Given the description of an element on the screen output the (x, y) to click on. 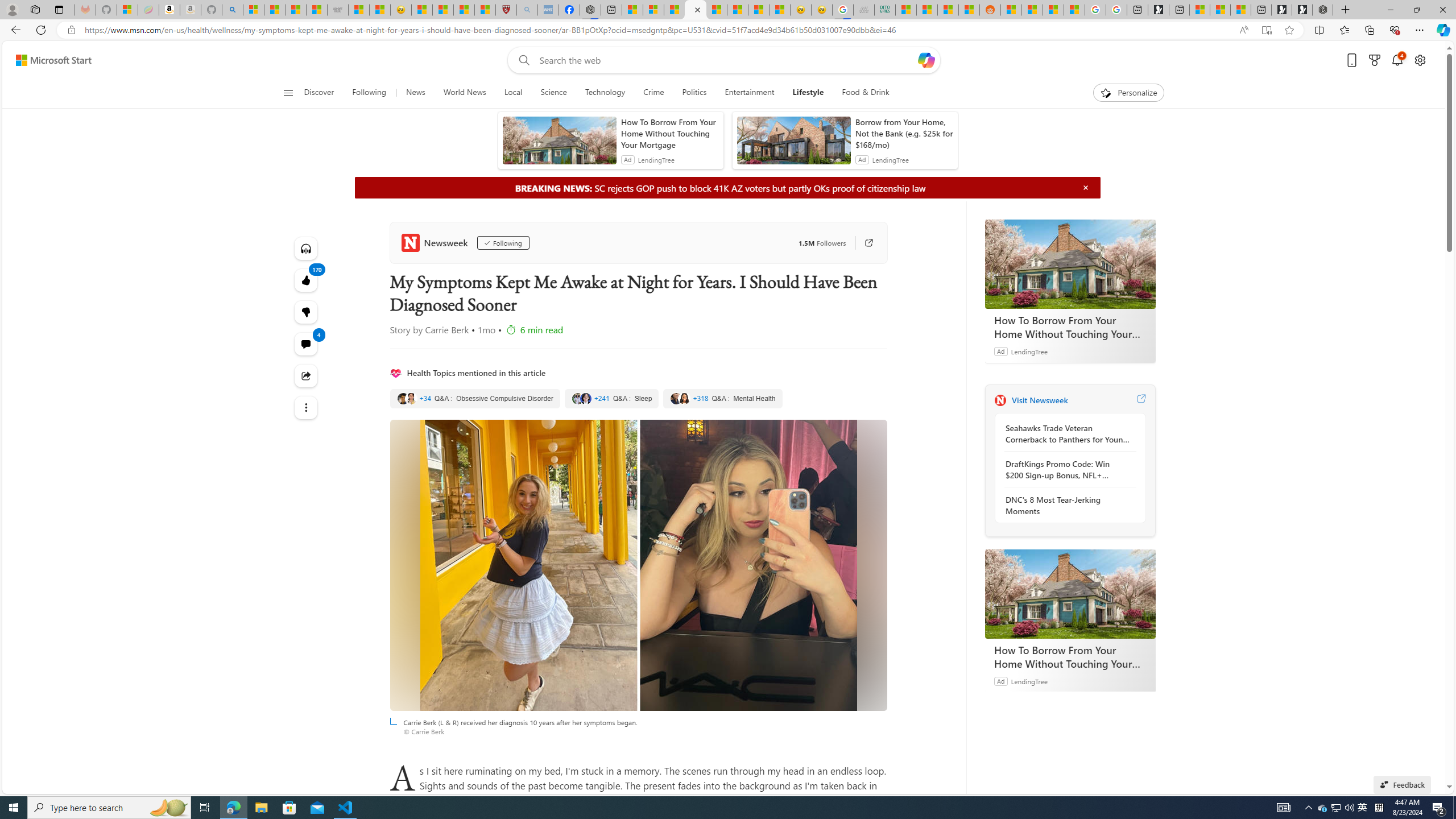
Sleep (611, 398)
Go to publisher's site (863, 242)
Borrow from Your Home, Not the Bank (e.g. $25k for $168/mo) (903, 133)
Obsessive Compulsive Disorder (475, 398)
DNC's 8 Most Tear-Jerking Moments (1066, 504)
170 (305, 312)
